Given the description of an element on the screen output the (x, y) to click on. 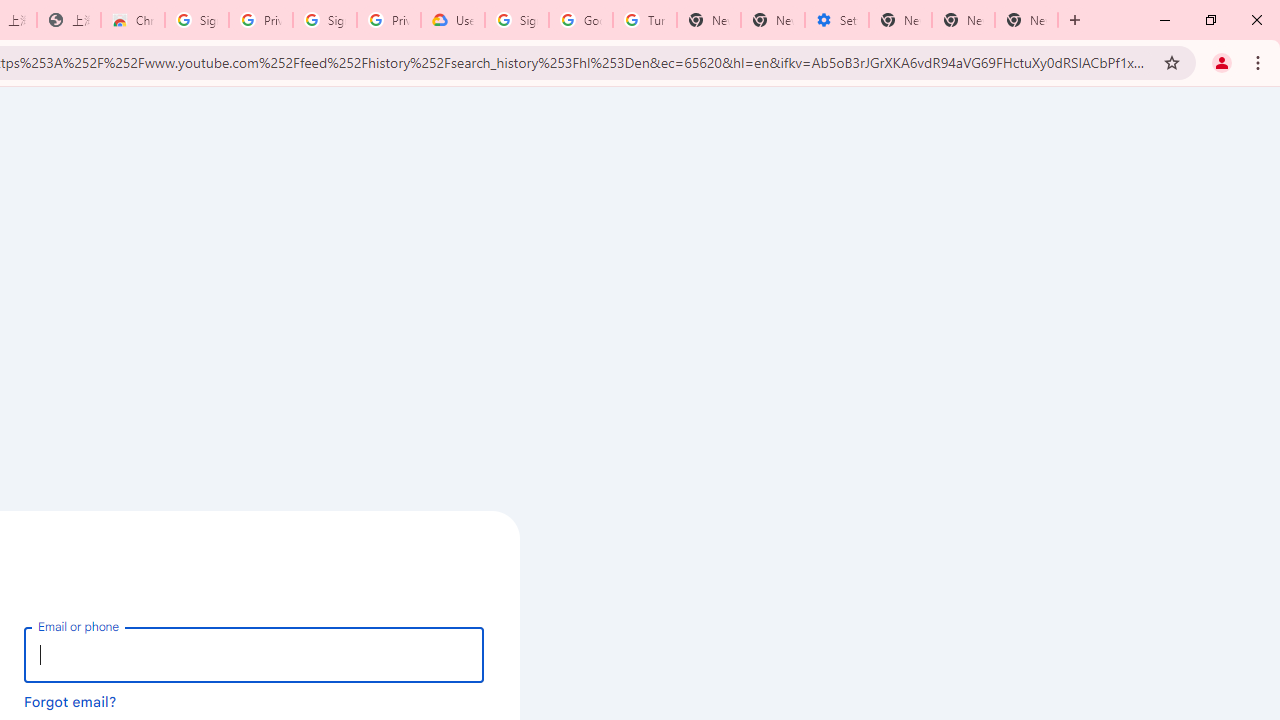
Turn cookies on or off - Computer - Google Account Help (645, 20)
Sign in - Google Accounts (197, 20)
